Given the description of an element on the screen output the (x, y) to click on. 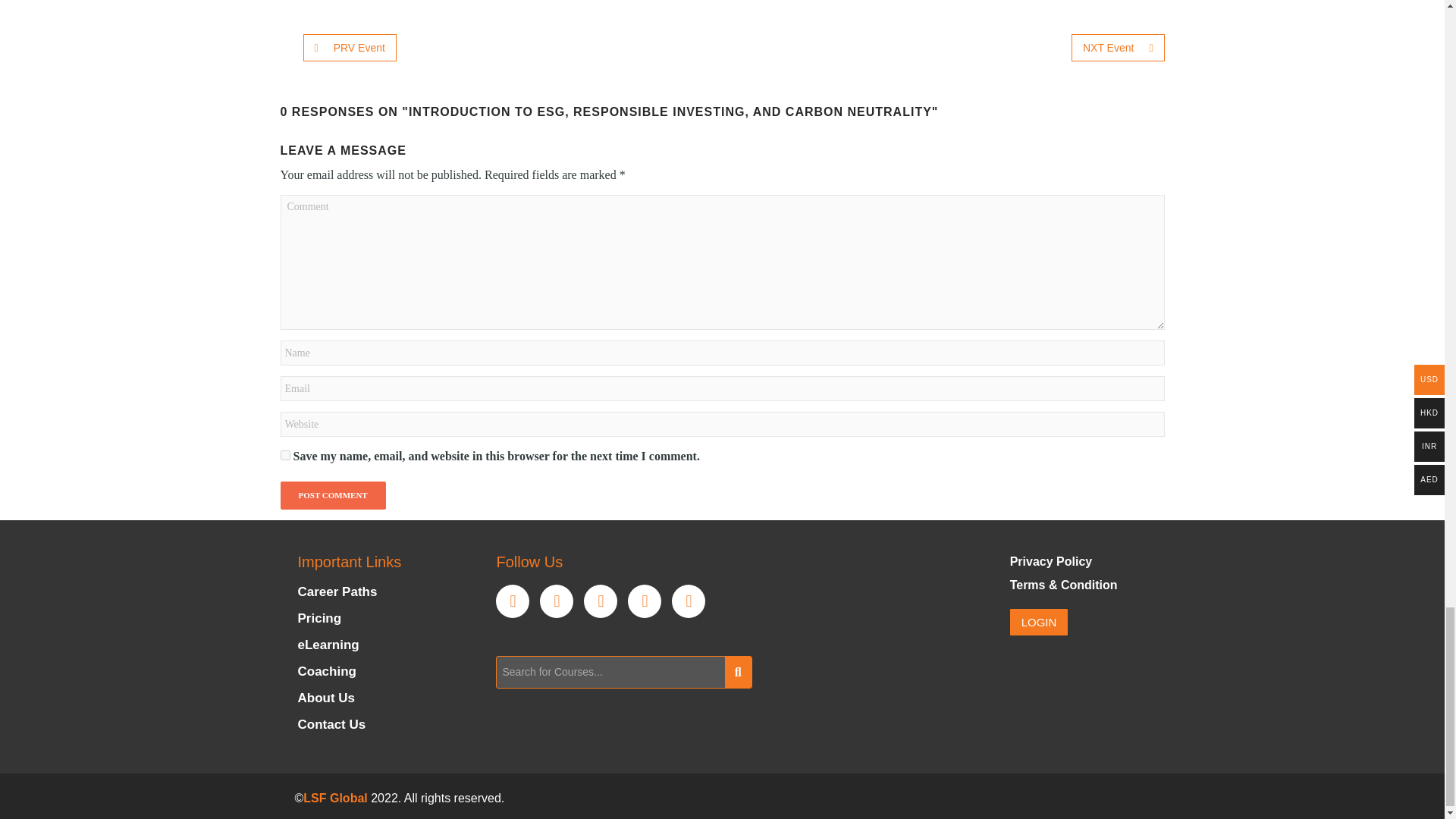
Search (609, 671)
yes (285, 455)
Post Comment (333, 495)
